Given the description of an element on the screen output the (x, y) to click on. 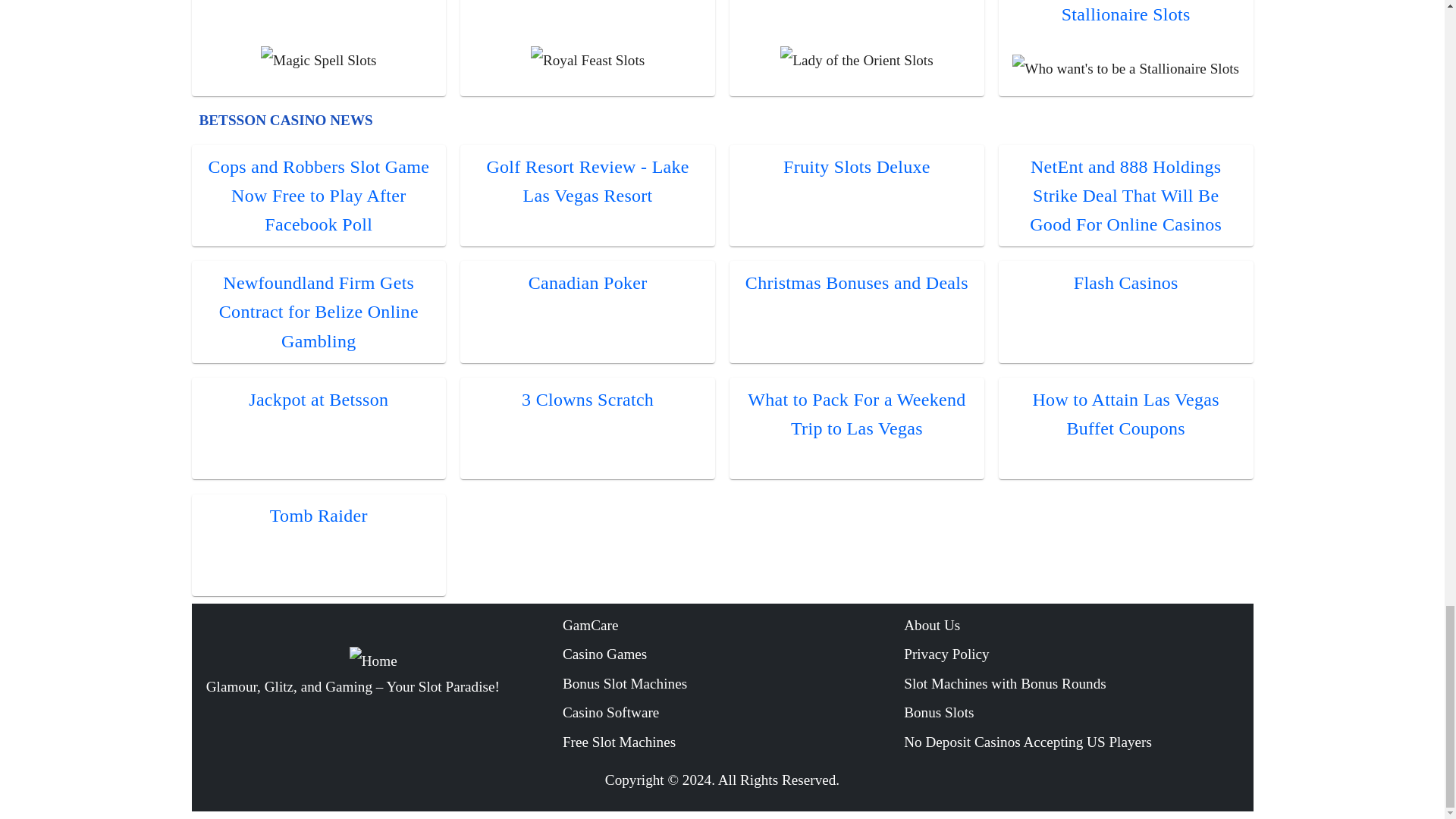
Who want's to be a Stallionaire Slots (1125, 12)
Newfoundland Firm Gets Contract for Belize Online Gambling (319, 311)
Fruity Slots Deluxe (856, 166)
Golf Resort Review - Lake Las Vegas Resort (587, 181)
